Given the description of an element on the screen output the (x, y) to click on. 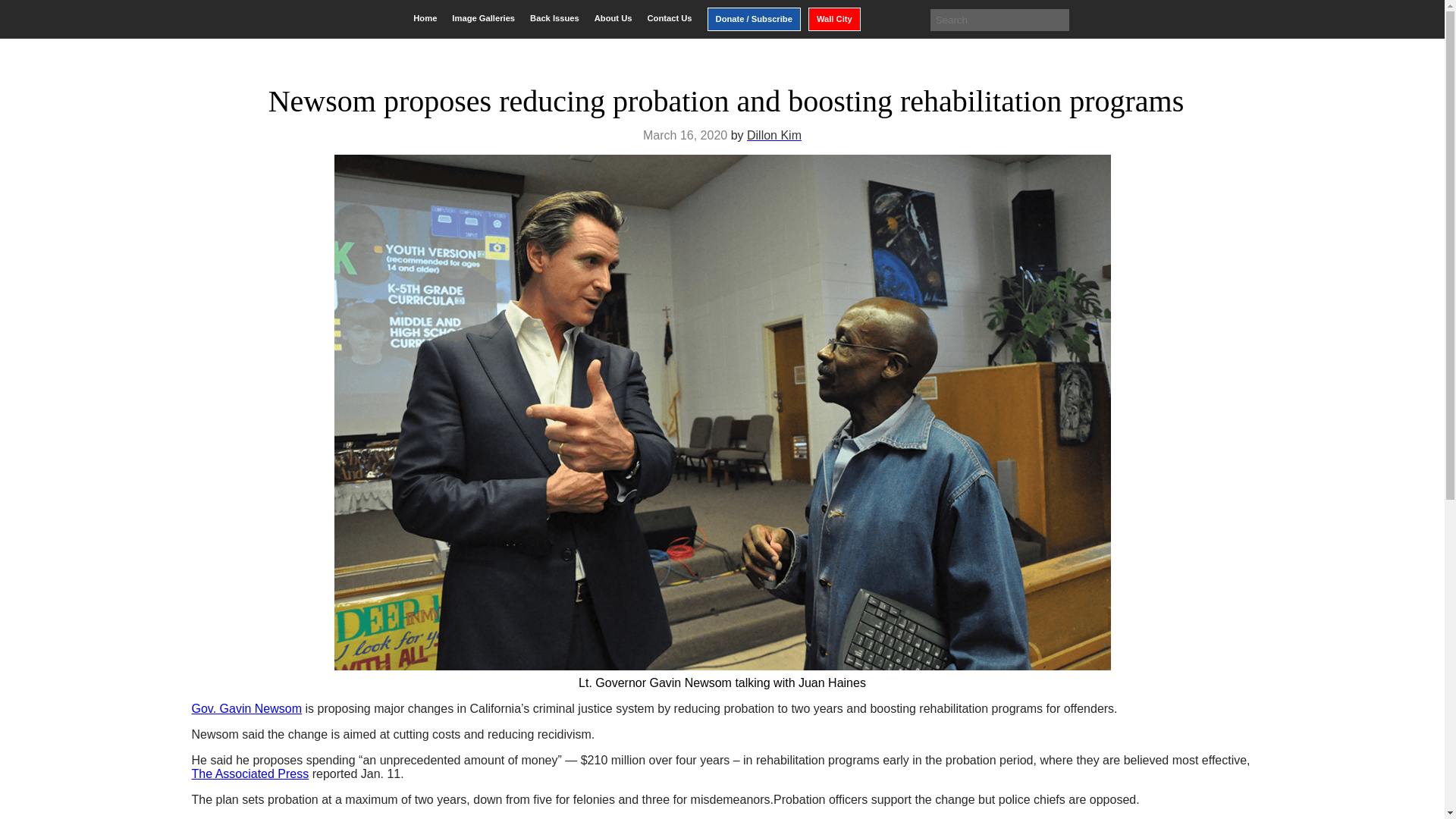
Contact Us (668, 17)
Dillon Kim (774, 134)
Search (22, 12)
Home (424, 17)
Image Galleries (483, 17)
Back Issues (554, 17)
Wall City (833, 18)
Gov. Gavin Newsom (245, 707)
The Associated Press (249, 773)
About Us (612, 17)
